Given the description of an element on the screen output the (x, y) to click on. 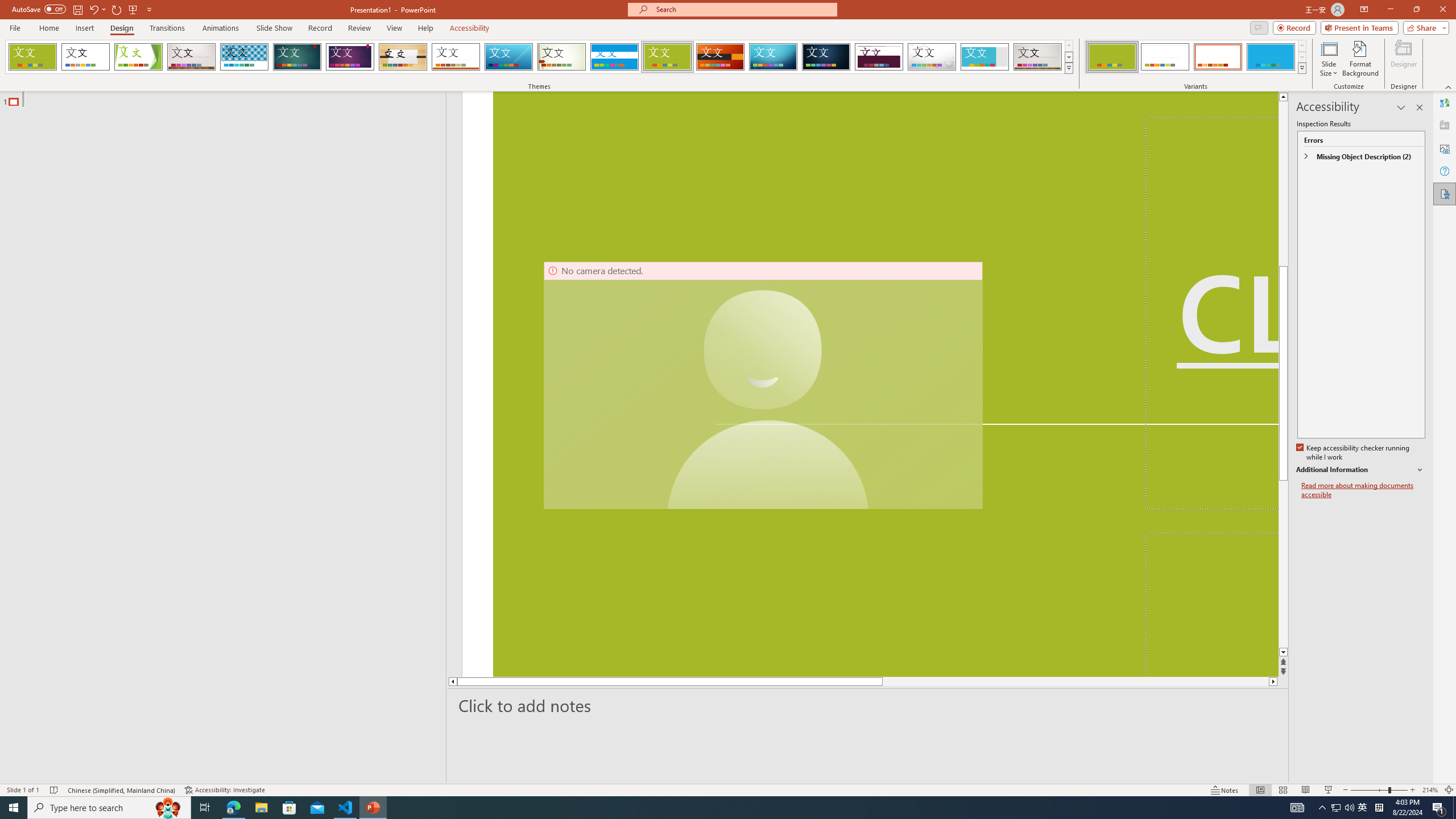
Ion Boardroom (350, 56)
Basis Variant 1 (1112, 56)
Organic (403, 56)
Basis Variant 3 (1217, 56)
AutomationID: ThemeVariantsGallery (1195, 56)
Read more about making documents accessible (1363, 489)
